Given the description of an element on the screen output the (x, y) to click on. 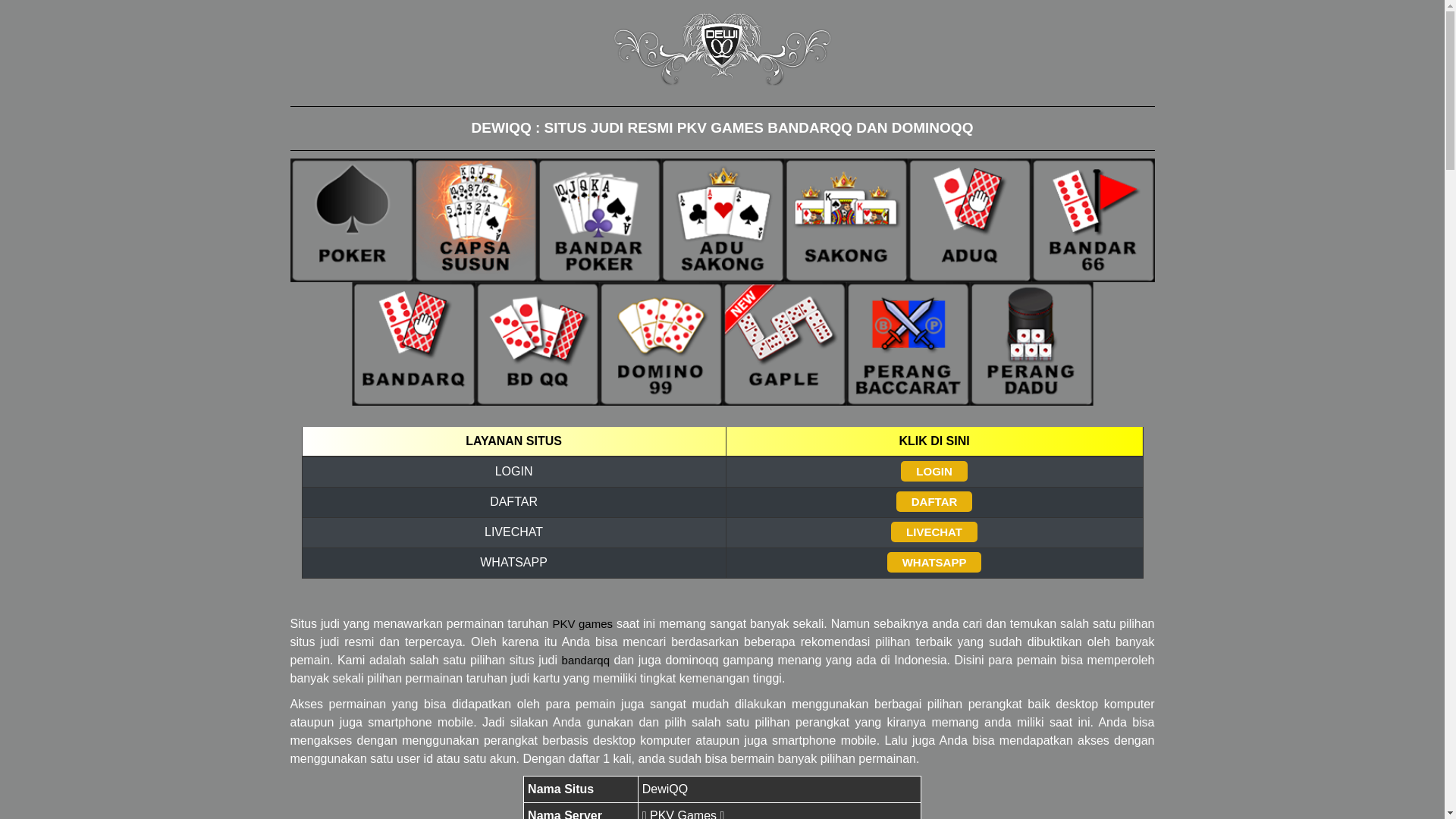
DAFTAR Element type: text (934, 501)
LIVECHAT Element type: text (934, 531)
WHATSAPP Element type: text (934, 562)
bandarqq Element type: text (585, 659)
LOGIN Element type: text (933, 471)
PKV games Element type: text (582, 623)
